Given the description of an element on the screen output the (x, y) to click on. 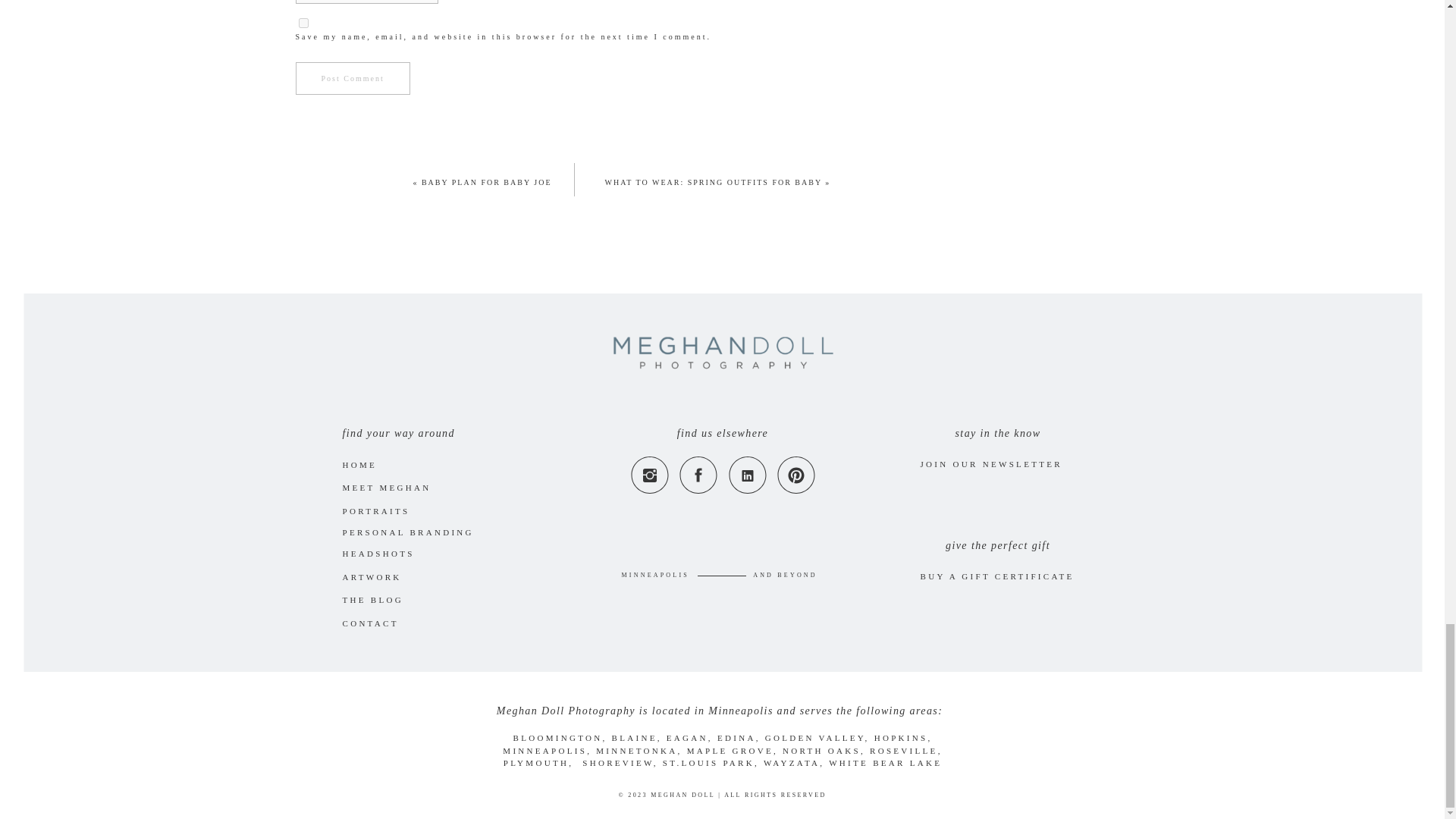
BABY PLAN FOR BABY JOE (486, 182)
Post Comment (352, 77)
PORTRAITS (380, 510)
THE BLOG (386, 598)
Post Comment (352, 77)
MEET MEGHAN (401, 486)
yes (303, 22)
CONTACT (373, 622)
ARTWORK (386, 576)
WHAT TO WEAR: SPRING OUTFITS FOR BABY (713, 182)
